Given the description of an element on the screen output the (x, y) to click on. 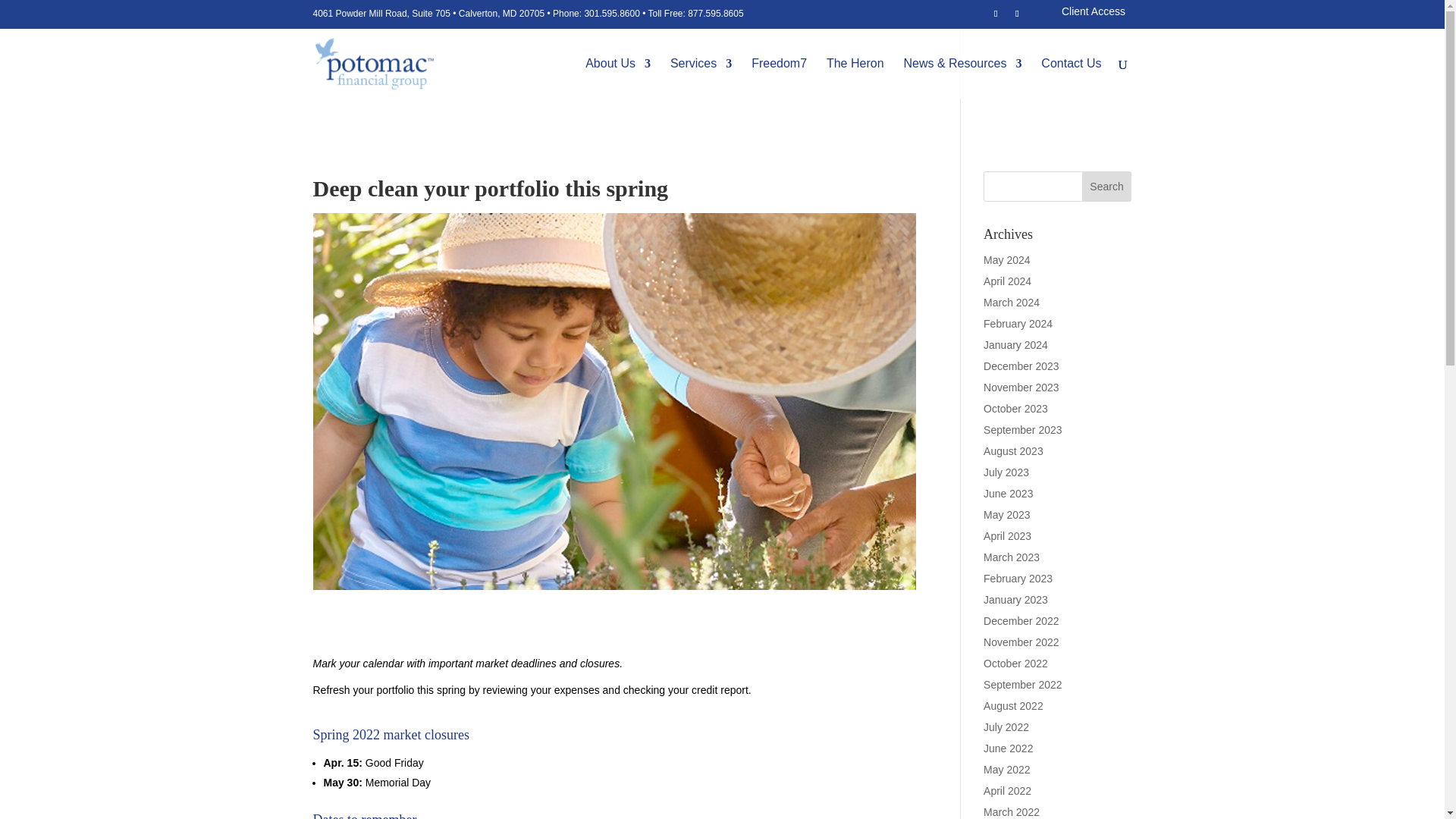
About Us (617, 78)
The Heron (855, 78)
Contact Us (1070, 78)
Freedom7 (778, 78)
Services (700, 78)
Search (1106, 186)
